Given the description of an element on the screen output the (x, y) to click on. 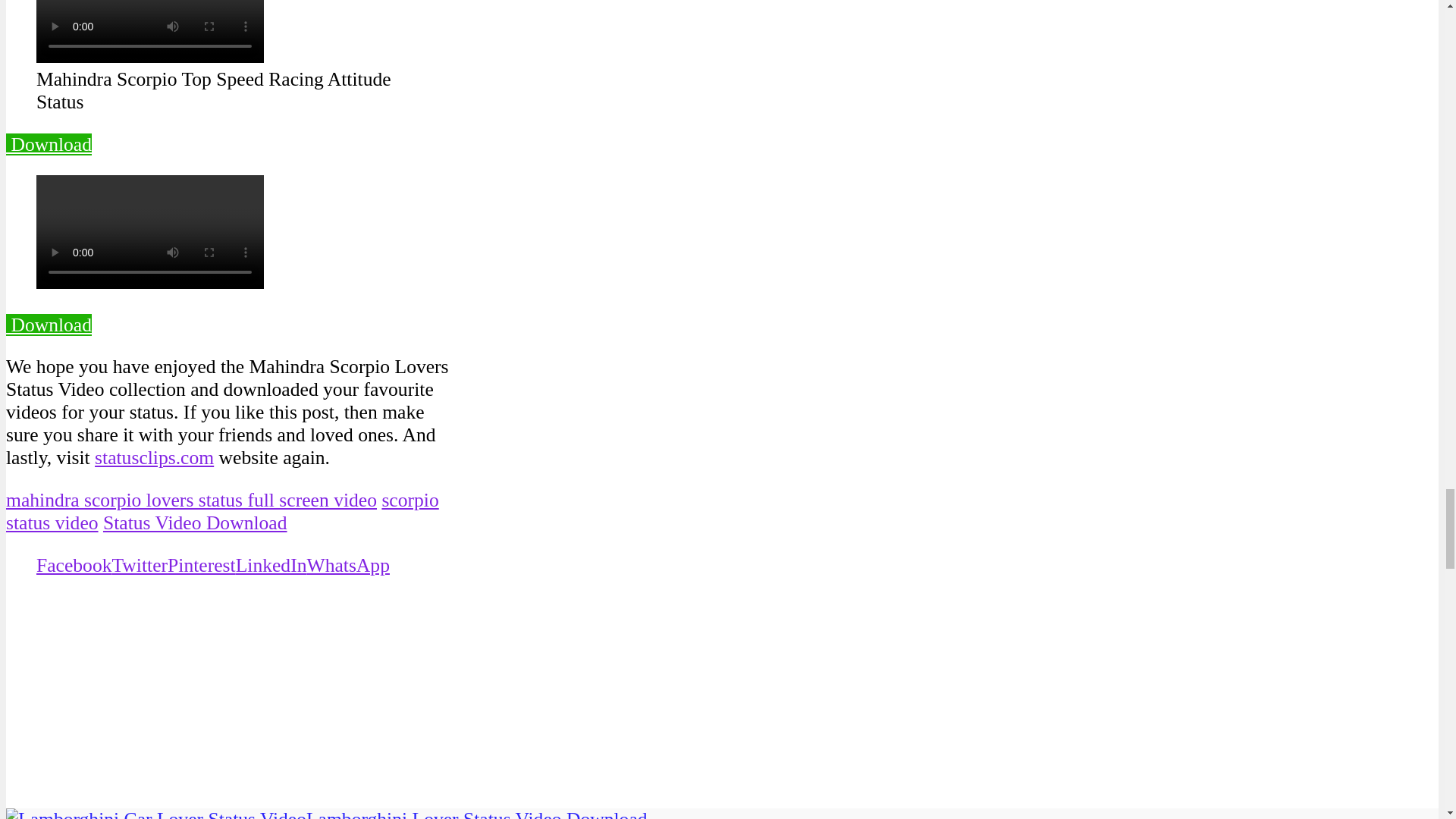
 Download (48, 324)
 Download (48, 144)
statusclips.com (154, 457)
